Given the description of an element on the screen output the (x, y) to click on. 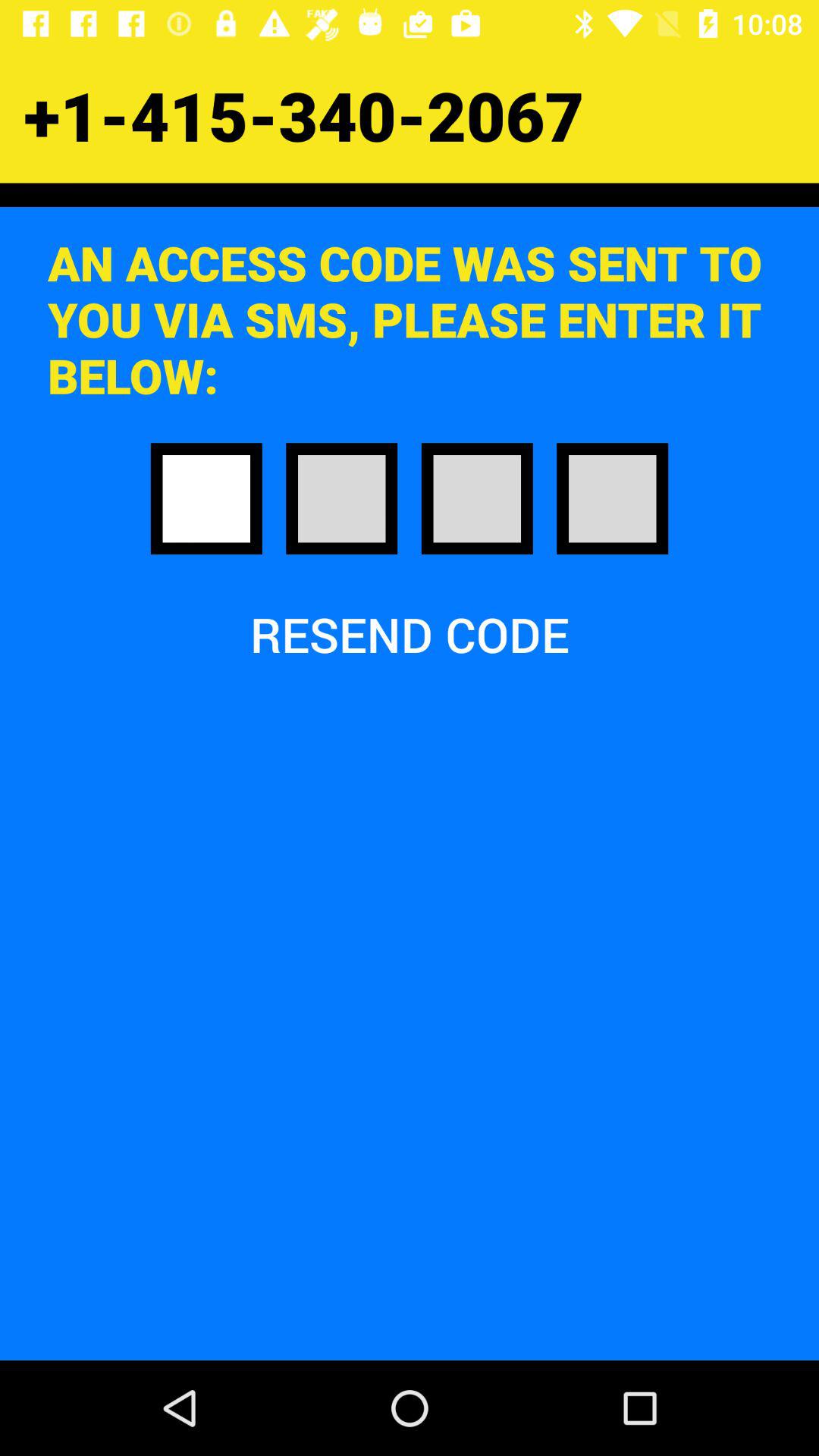
turn off the resend code icon (409, 634)
